Given the description of an element on the screen output the (x, y) to click on. 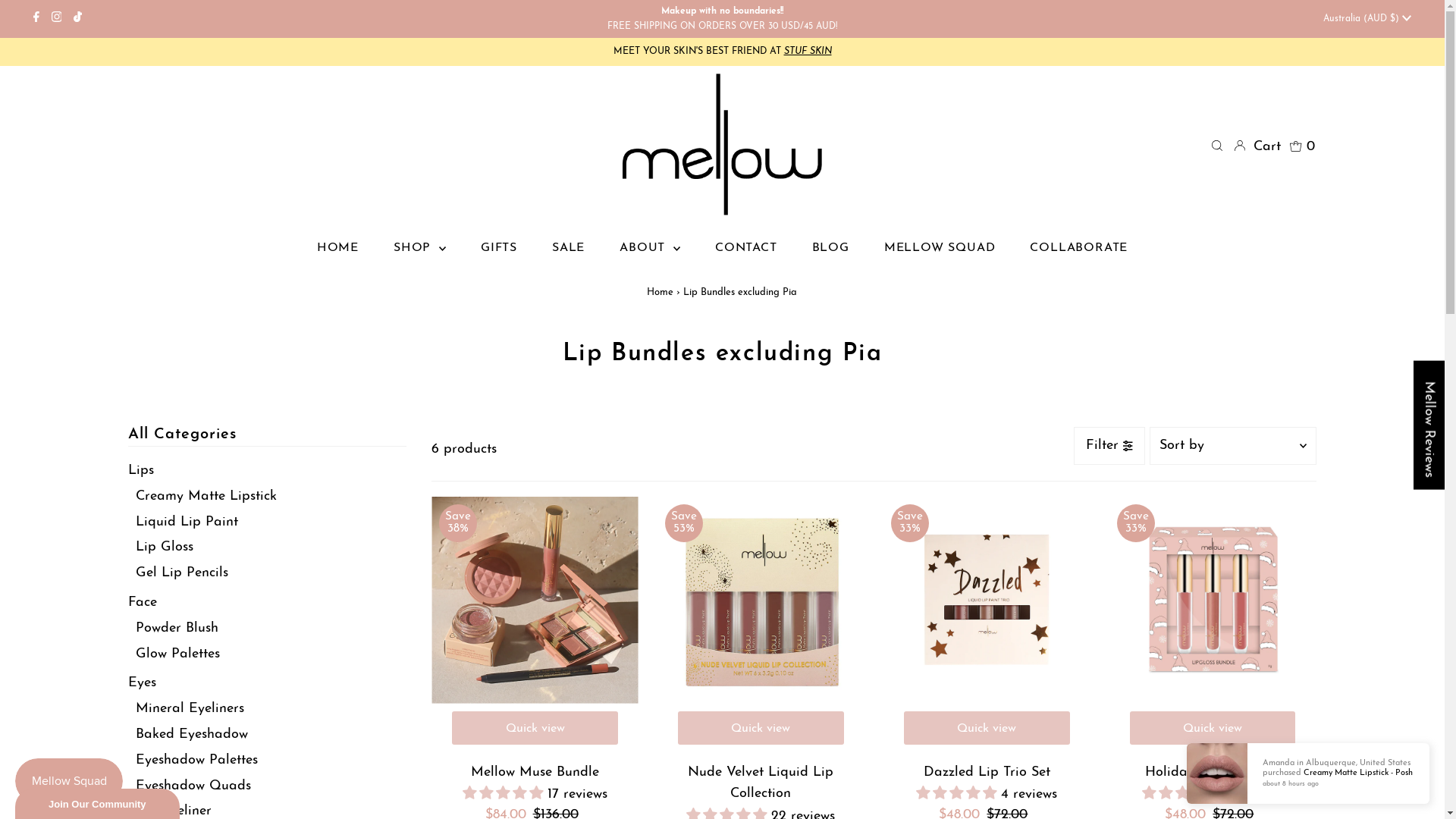
Holiday Lip Gloss Set Element type: hover (1212, 599)
Quick view Element type: text (1212, 727)
Gel Eyeliner Element type: text (173, 810)
Eyeshadow Palettes Element type: text (196, 760)
Glow Palettes Element type: text (177, 653)
GIFTS Element type: text (498, 247)
Nude Velvet Liquid Lip Collection Element type: hover (760, 599)
Mineral Eyeliners Element type: text (189, 708)
Powder Blush Element type: text (176, 628)
Smile.io Rewards Program Launcher Element type: hover (68, 780)
Baked Eyeshadow Element type: text (191, 734)
CONTACT Element type: text (745, 247)
Creamy Matte Lipstick Element type: text (205, 496)
Lip Gloss Element type: text (164, 546)
Mellow Muse Bundle
17 reviews Element type: text (535, 784)
Holiday Lip Gloss Set
2 reviews Element type: text (1212, 784)
Eyes Element type: text (142, 682)
Home Element type: text (659, 292)
Quick view Element type: text (760, 727)
Mellow Muse Bundle Element type: hover (534, 599)
Eyeshadow Quads Element type: text (193, 785)
Dazzled Lip Trio Set
4 reviews Element type: text (986, 784)
Lips Element type: text (140, 470)
Quick view Element type: text (986, 727)
MELLOW SQUAD Element type: text (939, 247)
Gel Lip Pencils Element type: text (181, 572)
HOME Element type: text (337, 247)
COLLABORATE Element type: text (1078, 247)
Liquid Lip Paint Element type: text (186, 521)
Quick view Element type: text (534, 727)
Face Element type: text (142, 602)
SALE Element type: text (567, 247)
BLOG Element type: text (830, 247)
Dazzled Lip Trio Set Element type: hover (986, 599)
STUF SKIN Element type: text (807, 51)
